Given the description of an element on the screen output the (x, y) to click on. 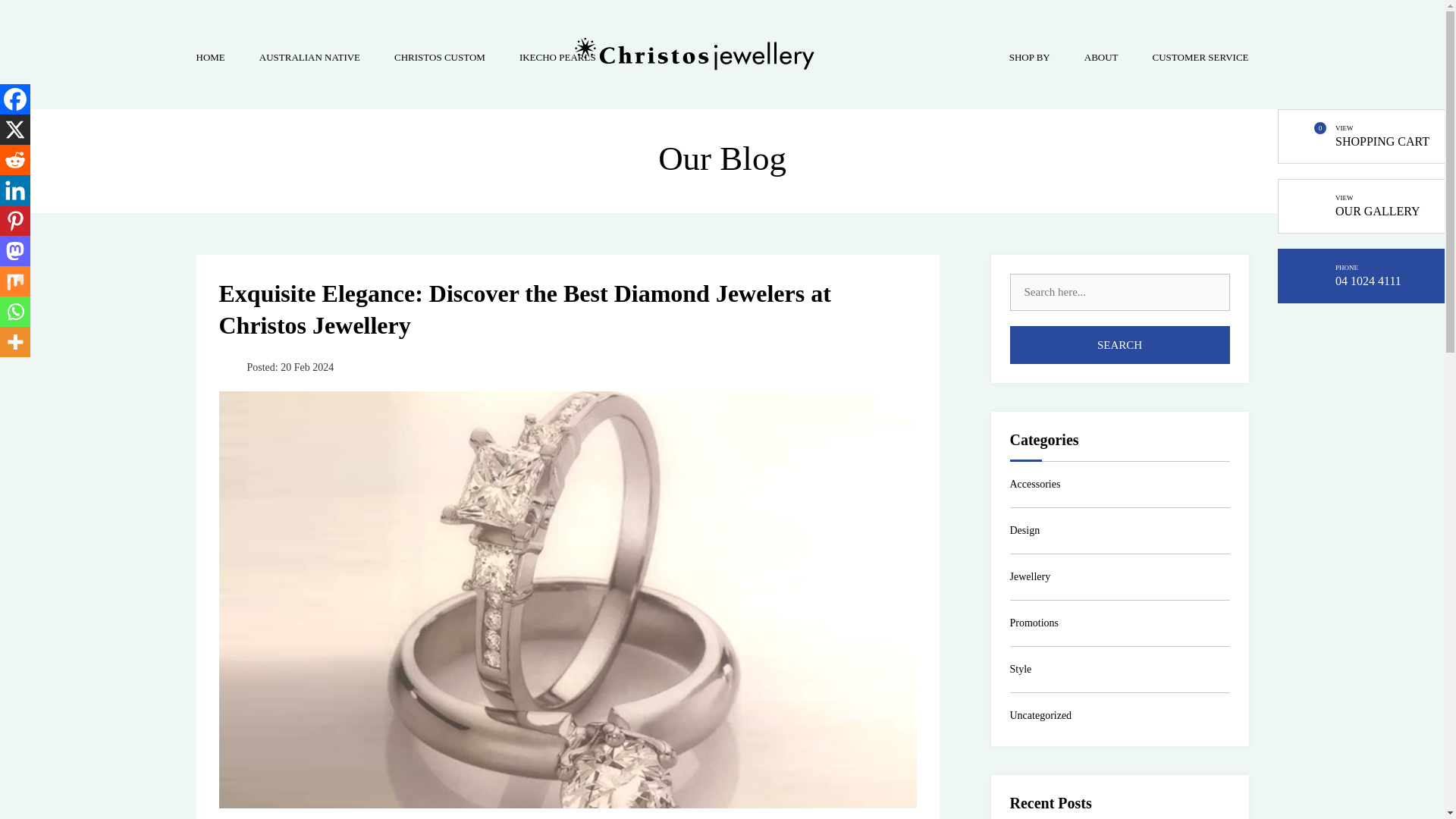
CHRISTOS CUSTOM (439, 59)
Pinterest (15, 220)
HOME (209, 59)
AUSTRALIAN NATIVE (309, 59)
Facebook (15, 99)
SHOP BY (1029, 59)
X (15, 129)
Linkedin (15, 190)
Reddit (15, 159)
